Given the description of an element on the screen output the (x, y) to click on. 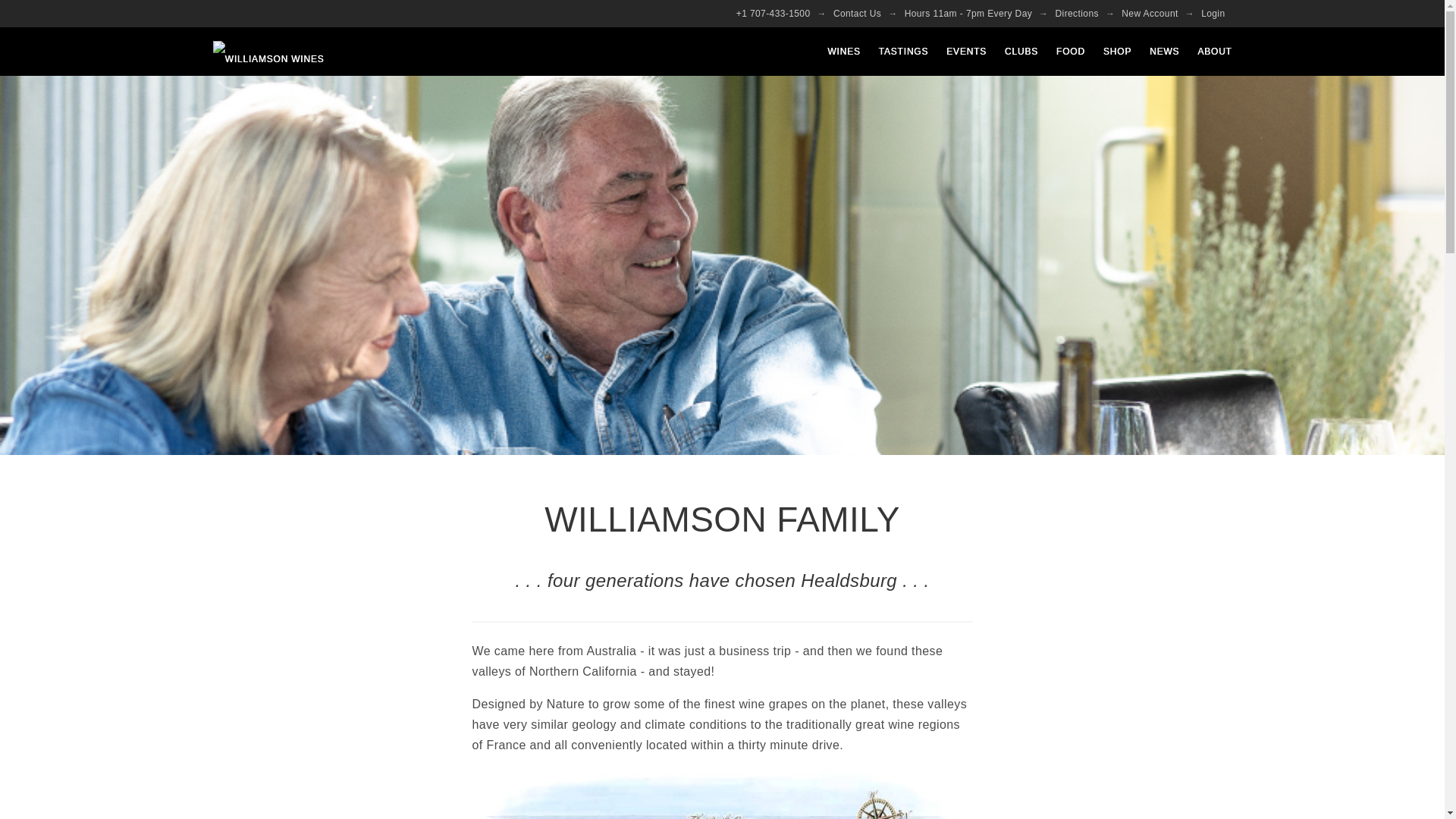
Directions (1076, 13)
Contact Us (857, 13)
New Account (1150, 13)
Hours 11am - 7pm Every Day (968, 13)
Login (1212, 13)
